Given the description of an element on the screen output the (x, y) to click on. 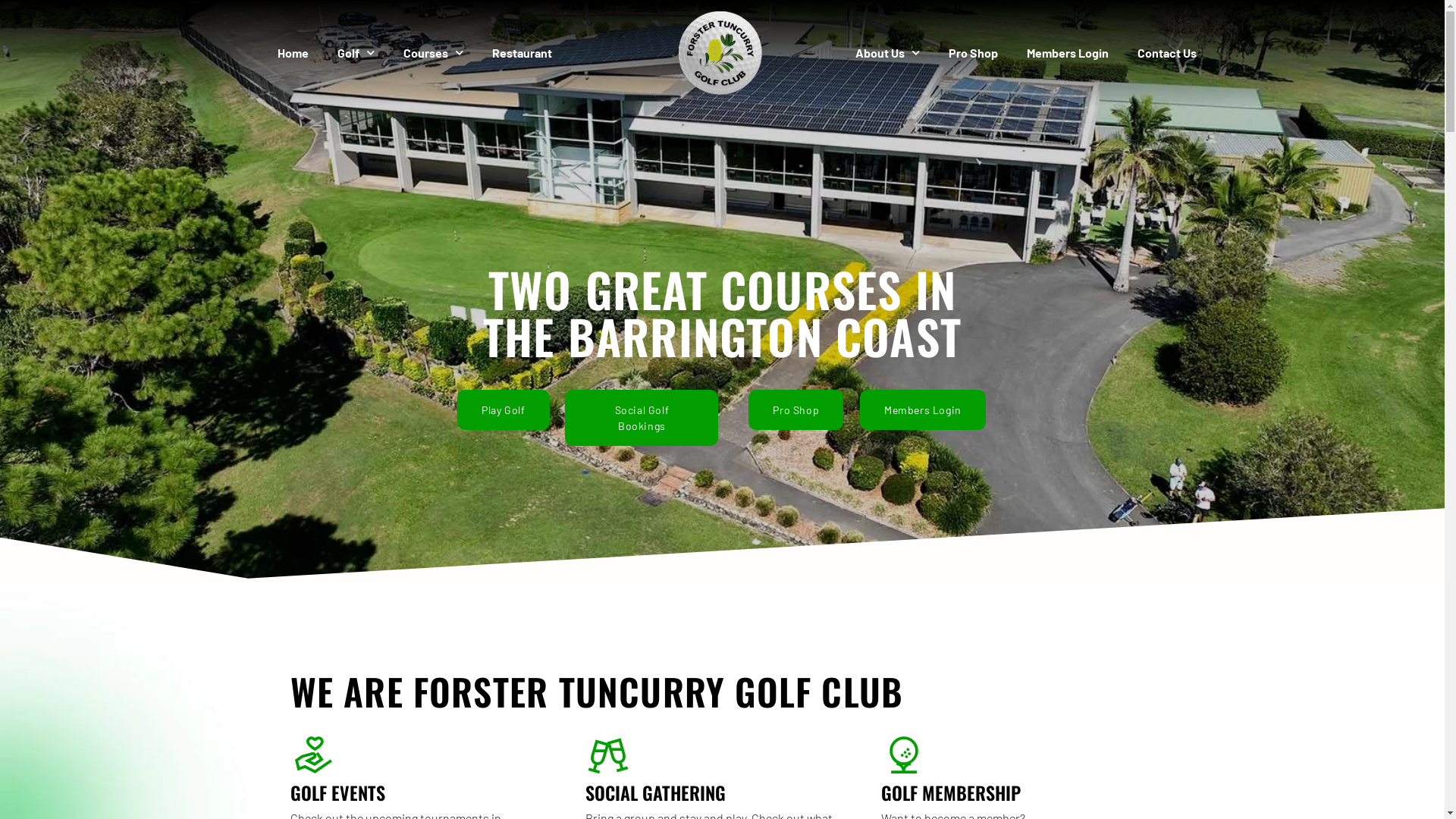
Members Login Element type: text (922, 409)
Social Golf Bookings Element type: text (641, 417)
Pro Shop Element type: text (972, 52)
Members Login Element type: text (1067, 52)
Play Golf Element type: text (503, 409)
Golf Element type: text (355, 52)
About Us Element type: text (887, 52)
Restaurant Element type: text (522, 52)
Courses Element type: text (433, 52)
Home Element type: text (292, 52)
Contact Us Element type: text (1166, 52)
Pro Shop Element type: text (795, 409)
